Given the description of an element on the screen output the (x, y) to click on. 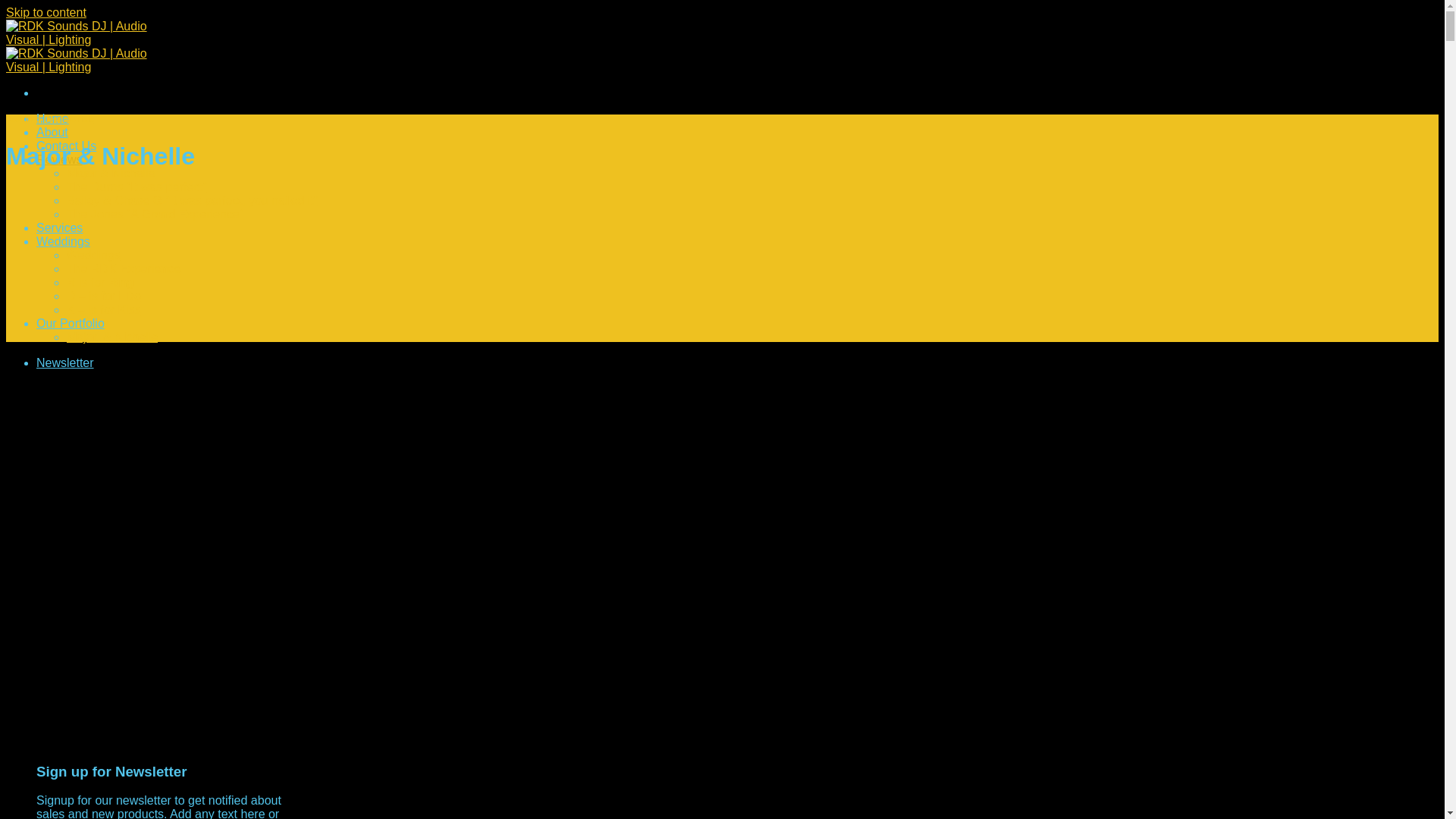
Reviews (58, 159)
Weddings (63, 241)
Skip to content (45, 11)
Sign up for Newsletter (65, 362)
Weddings (93, 254)
Services (59, 227)
Our Portfolio (70, 323)
Contact Us (66, 145)
Home (52, 118)
The RDK Experience (123, 268)
Newsletter (65, 362)
About (52, 132)
R is for Ring (99, 282)
Testimonials (69, 118)
Featured (22, 118)
